Given the description of an element on the screen output the (x, y) to click on. 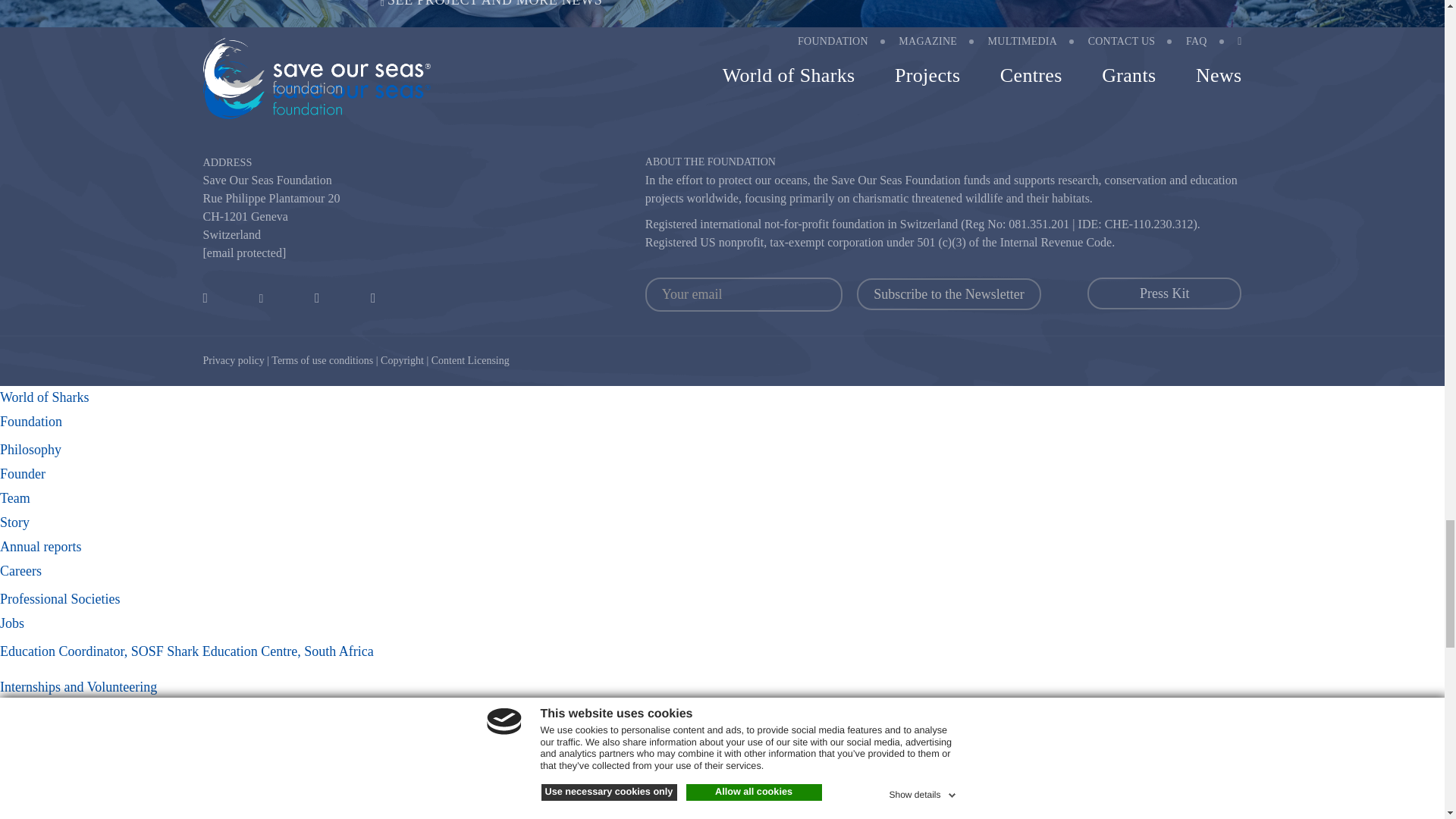
Subscribe to the Newsletter (949, 294)
